Given the description of an element on the screen output the (x, y) to click on. 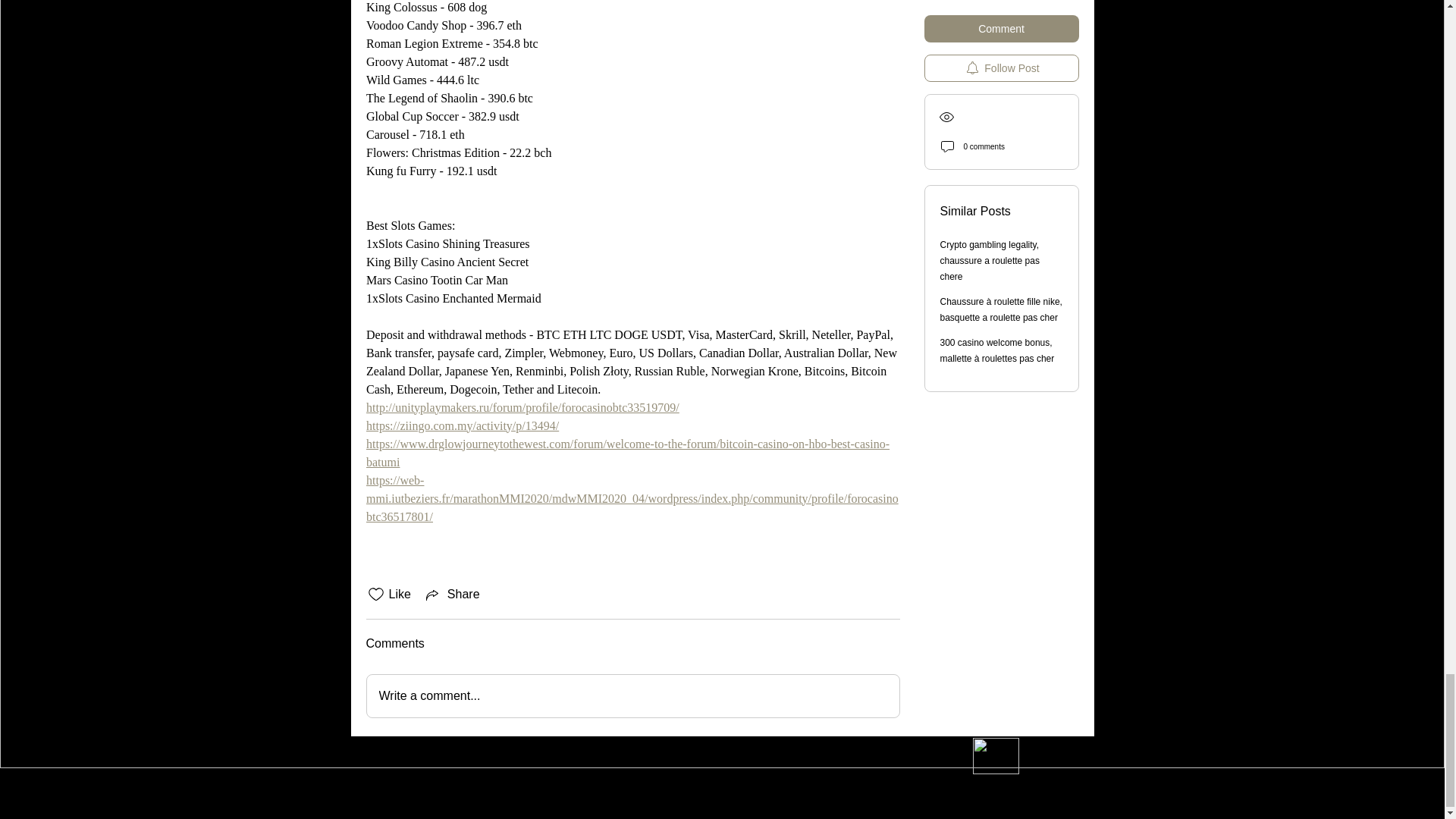
Write a comment... (632, 695)
Facebook Like (445, 757)
Share (451, 594)
